Given the description of an element on the screen output the (x, y) to click on. 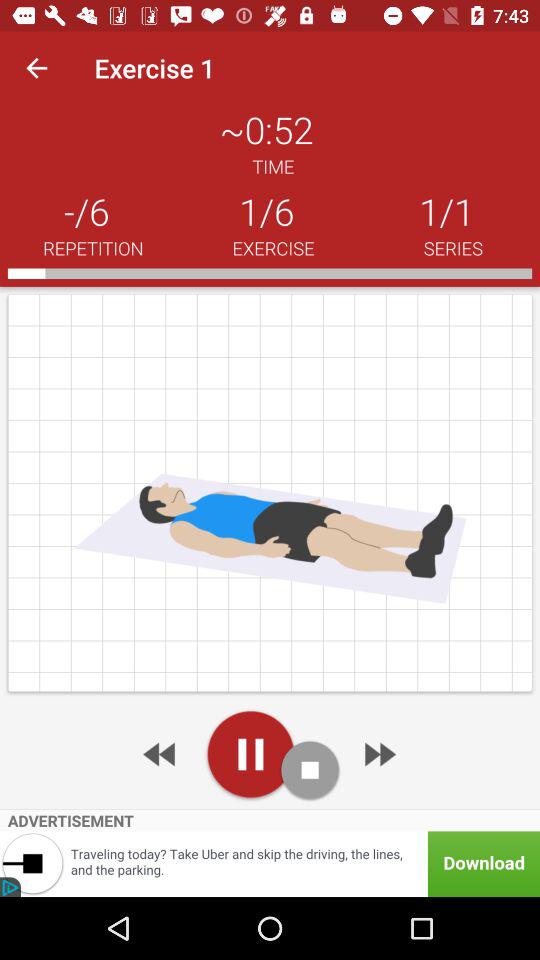
stop (309, 769)
